Given the description of an element on the screen output the (x, y) to click on. 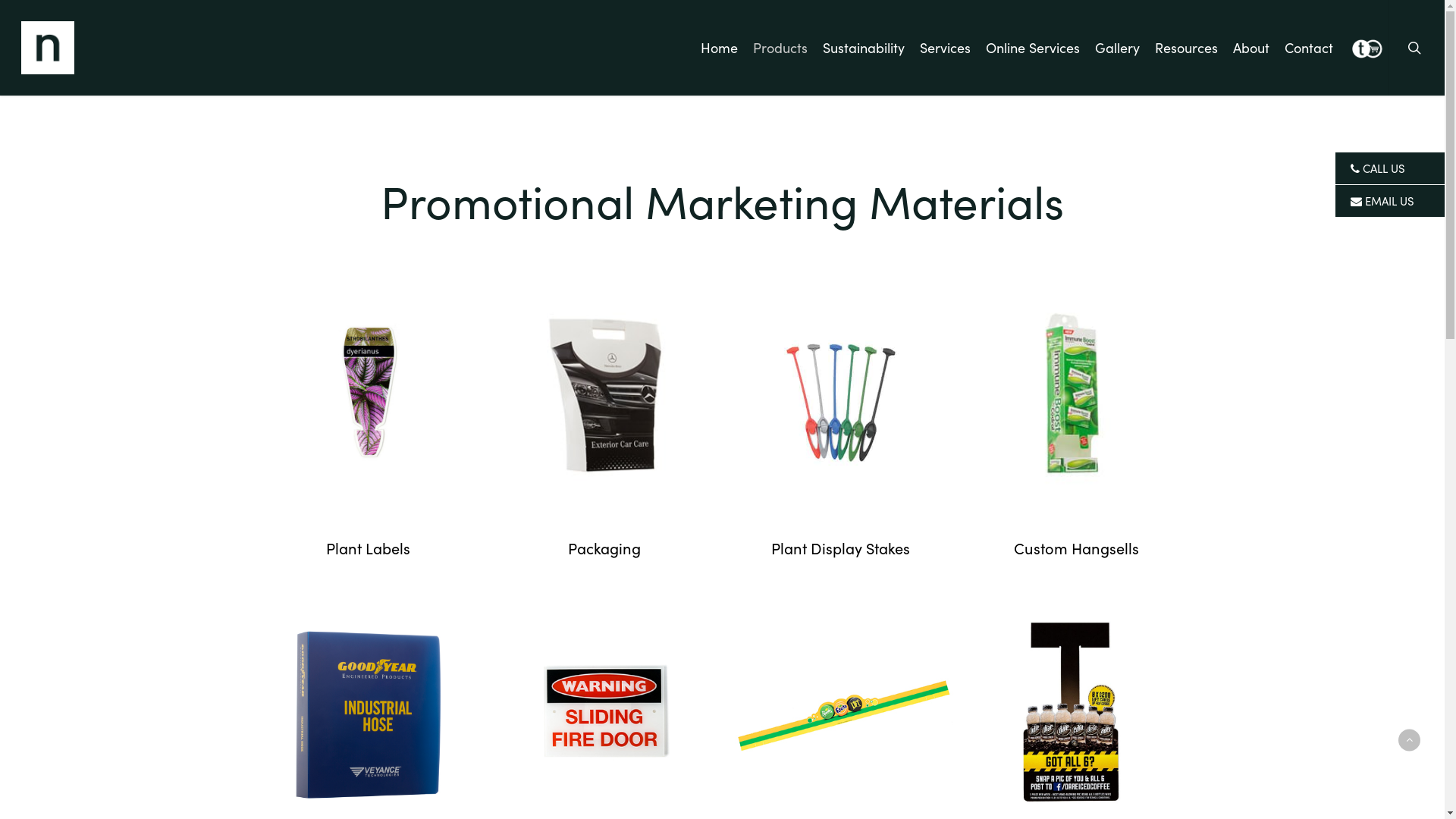
Products Element type: text (780, 47)
Home Element type: text (719, 47)
CALL US Element type: text (1389, 168)
Plant Display Stakes Element type: text (840, 547)
Plant Labels Element type: text (368, 547)
About Element type: text (1251, 47)
Online Services Element type: text (1032, 47)
Gallery Element type: text (1117, 47)
Contact Element type: text (1308, 47)
search Element type: text (1415, 47)
Services Element type: text (945, 47)
Sustainability Element type: text (863, 47)
Resources Element type: text (1186, 47)
Packaging Element type: text (603, 547)
EMAIL US Element type: text (1389, 200)
Custom Hangsells Element type: text (1076, 547)
